Given the description of an element on the screen output the (x, y) to click on. 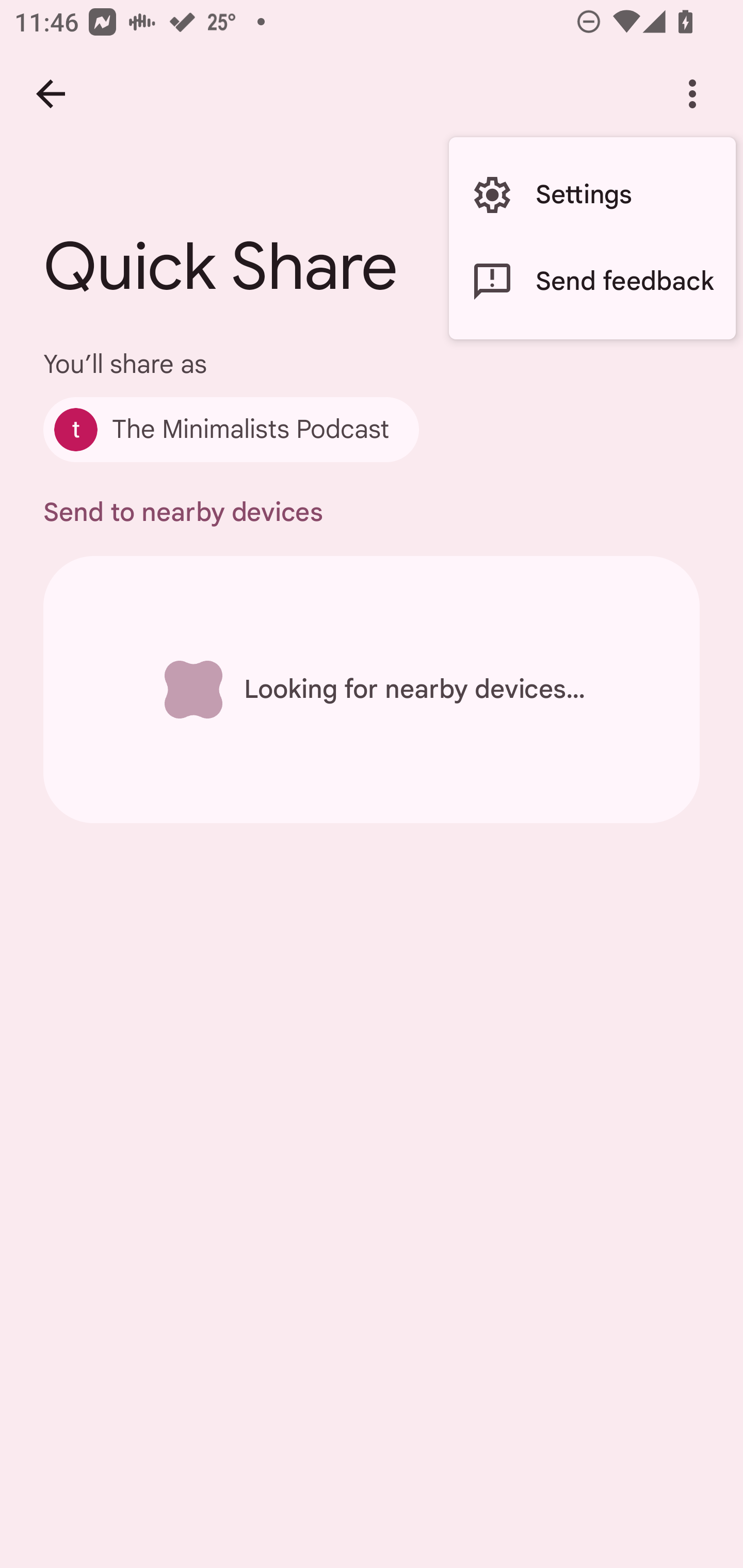
Settings (591, 195)
Send feedback (591, 281)
